Given the description of an element on the screen output the (x, y) to click on. 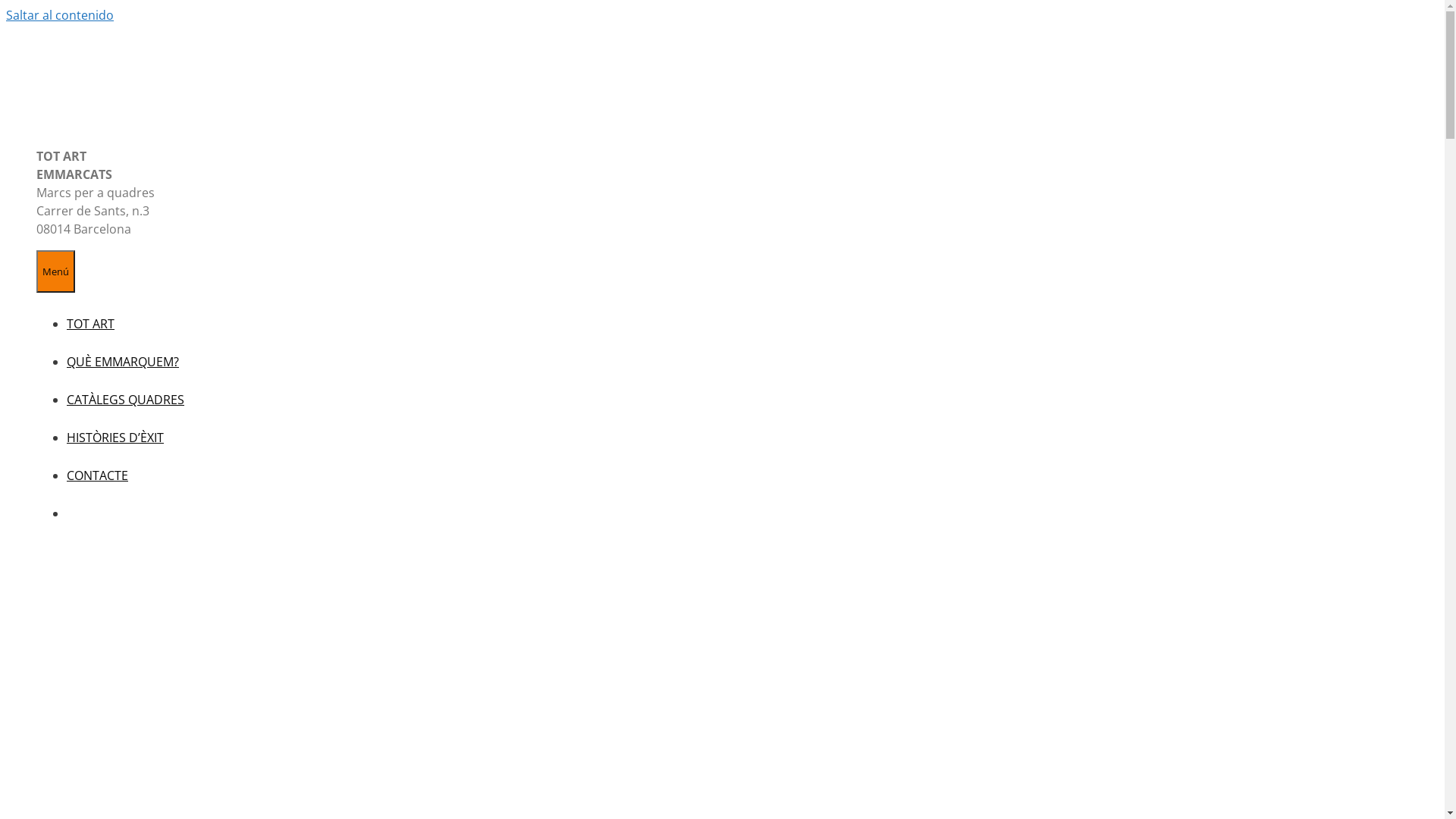
TOT ART Element type: text (90, 323)
CONTACTE Element type: text (97, 475)
Saltar al contenido Element type: text (59, 14)
